Given the description of an element on the screen output the (x, y) to click on. 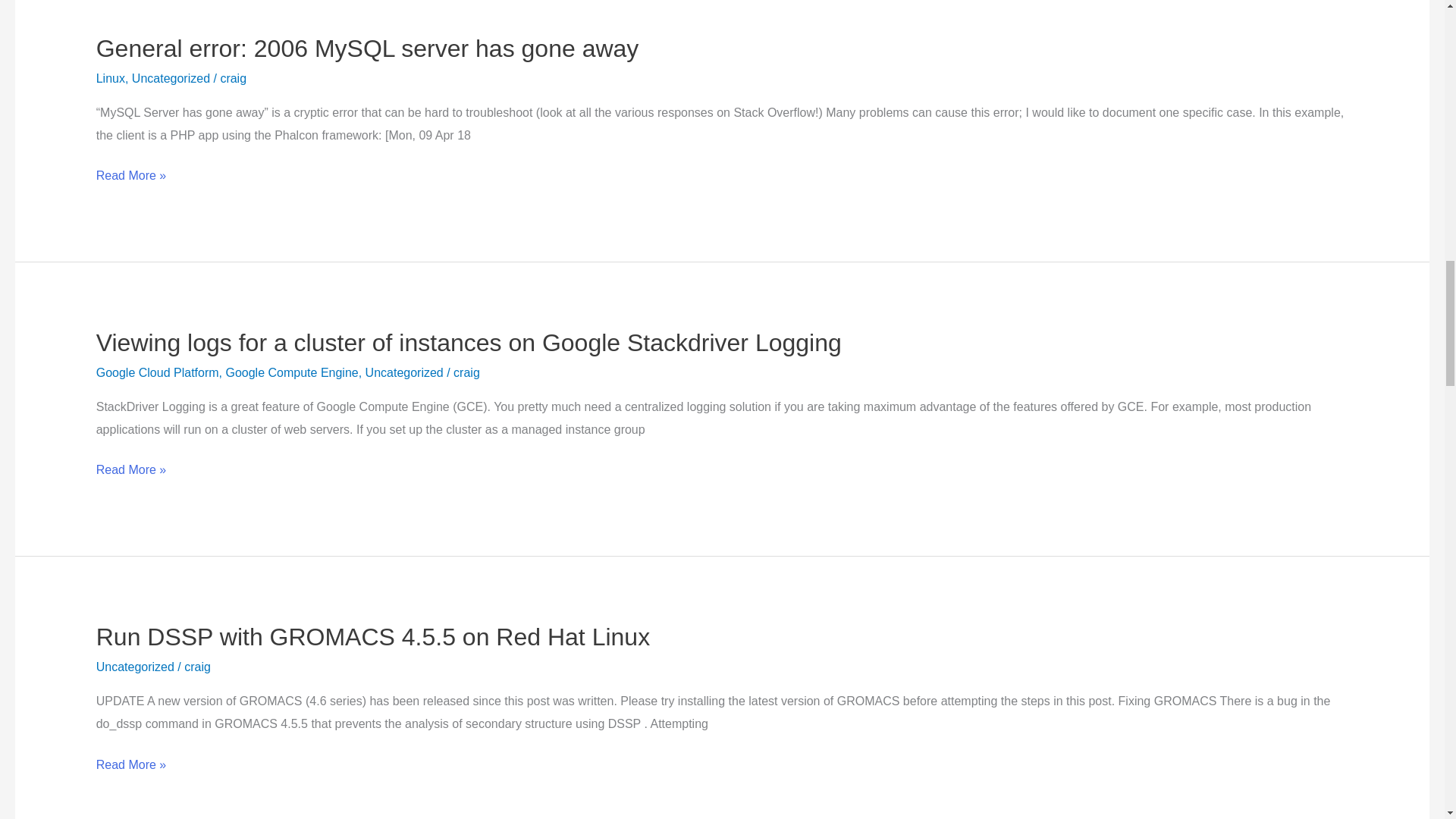
craig (232, 78)
View all posts by craig (232, 78)
Uncategorized (135, 666)
Uncategorized (404, 372)
View all posts by craig (197, 666)
General error: 2006 MySQL server has gone away (367, 48)
Google Compute Engine (291, 372)
Google Cloud Platform (157, 372)
Run DSSP with GROMACS 4.5.5 on Red Hat Linux (372, 636)
